Given the description of an element on the screen output the (x, y) to click on. 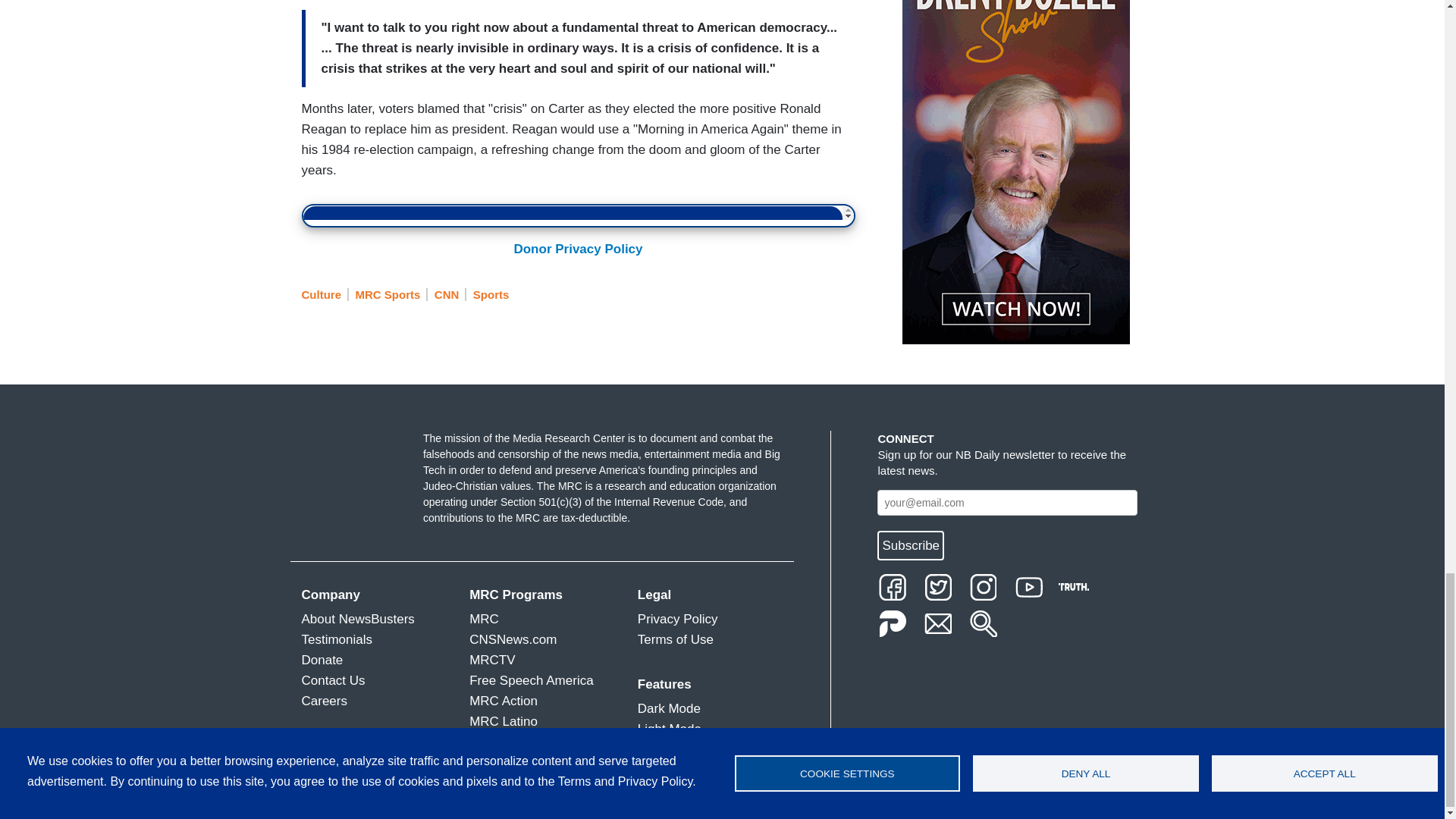
Giving Form (577, 213)
